Given the description of an element on the screen output the (x, y) to click on. 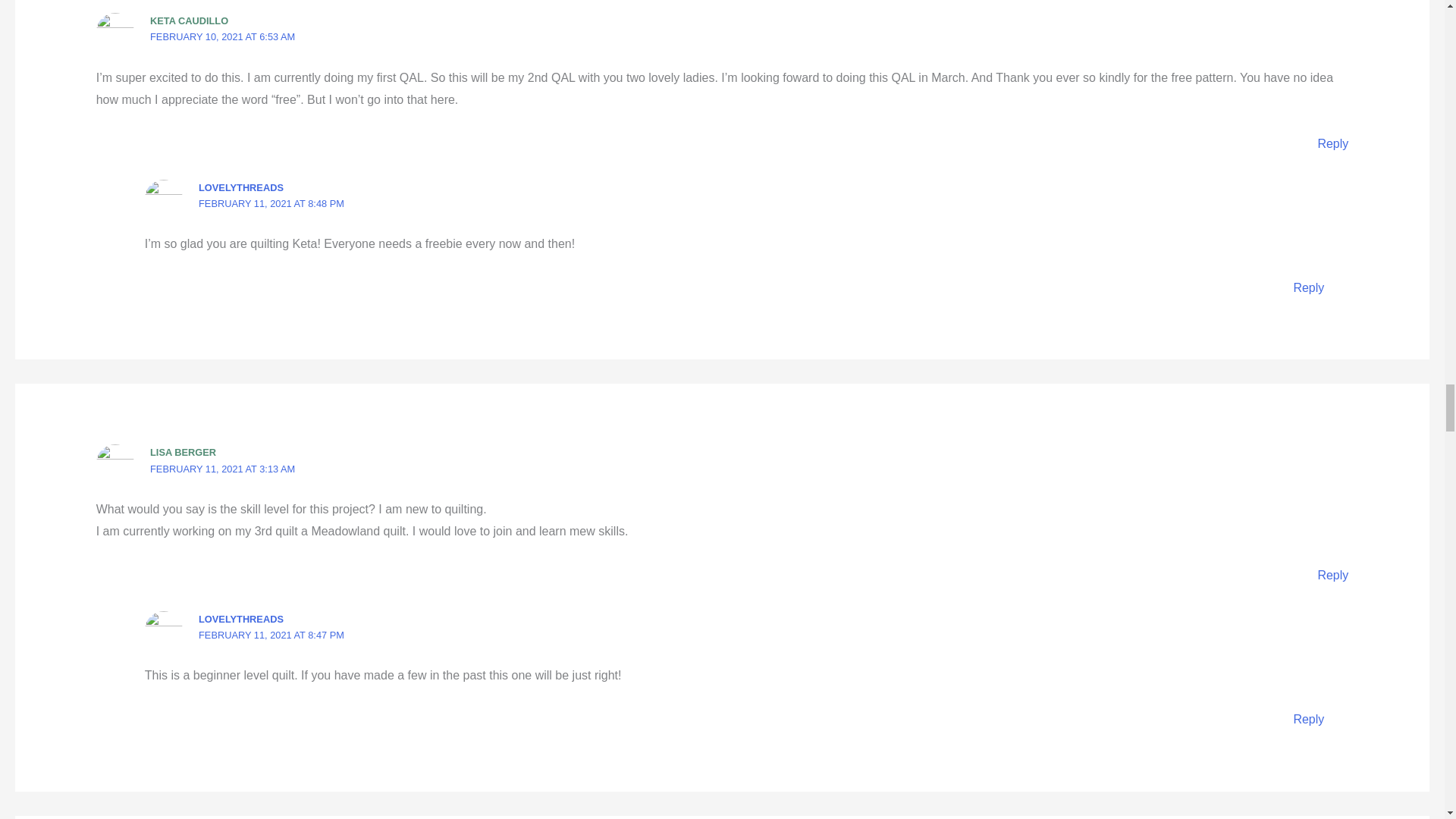
FEBRUARY 10, 2021 AT 6:53 AM (222, 36)
Reply (1332, 143)
